Given the description of an element on the screen output the (x, y) to click on. 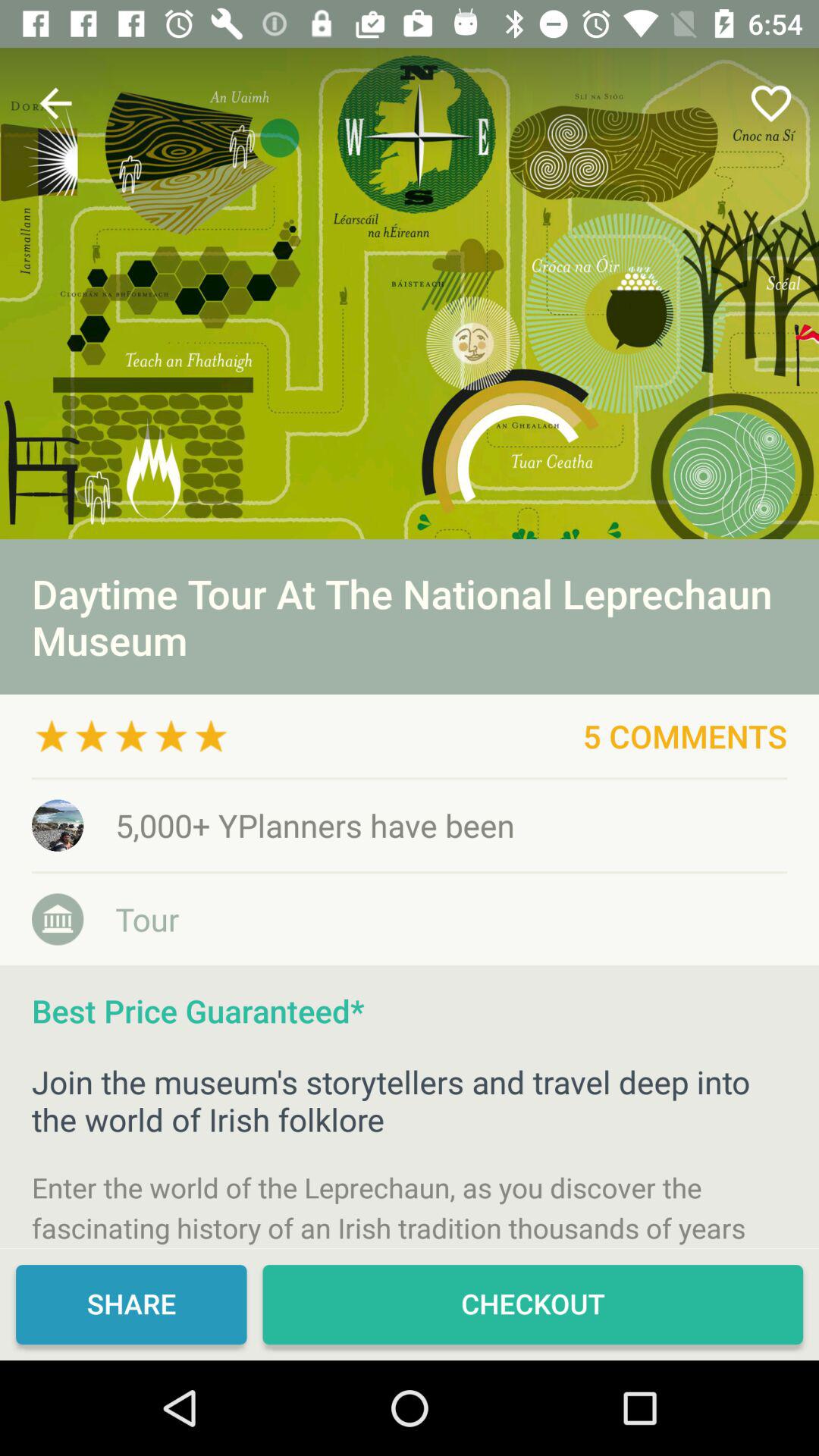
click the icon above the daytime tour at (771, 103)
